Given the description of an element on the screen output the (x, y) to click on. 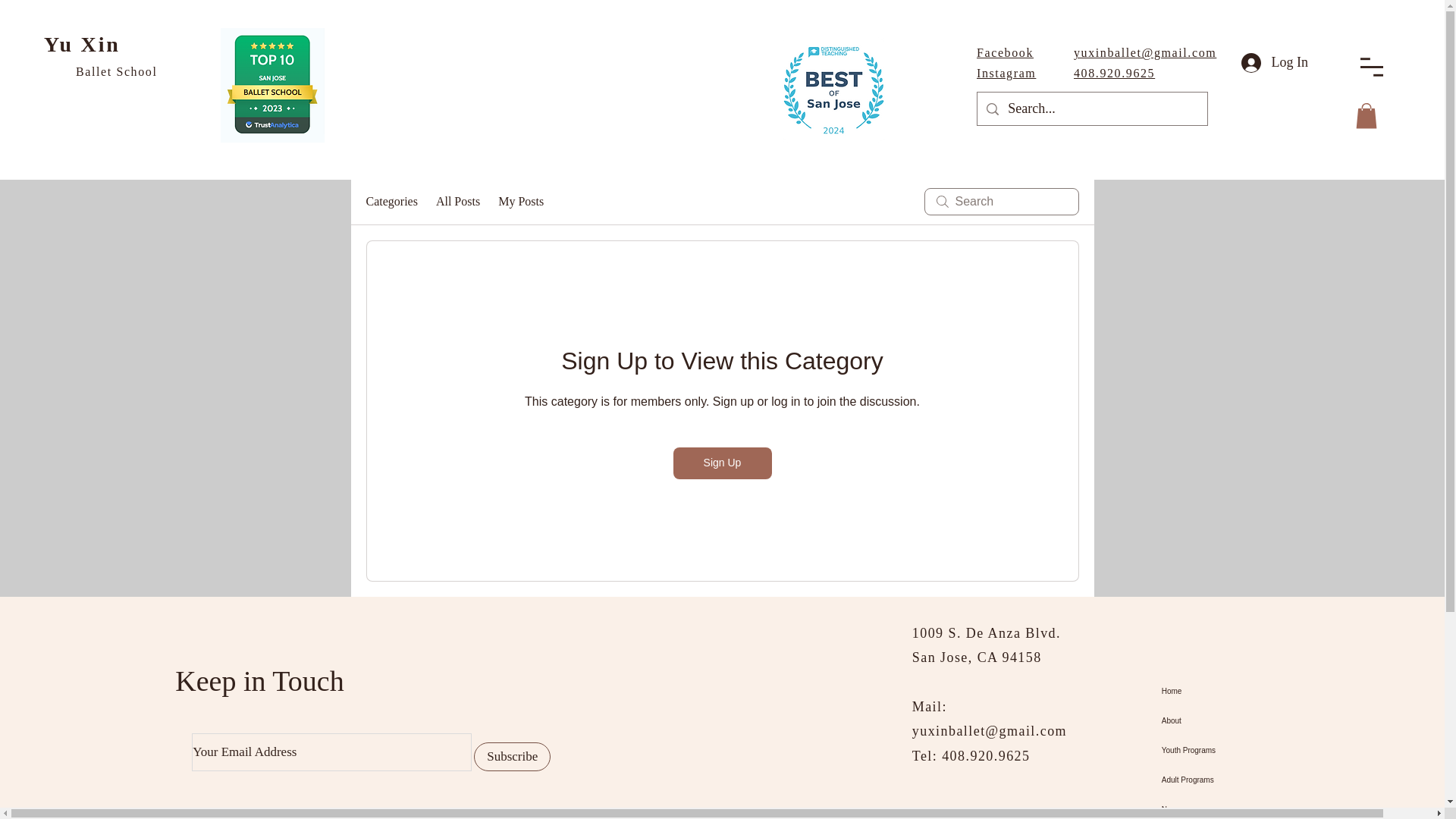
Home (1240, 690)
About (1240, 720)
Facebook (1004, 51)
Instagram (1005, 72)
Ballet School (116, 71)
Log In (1274, 62)
Sign Up (721, 463)
News (1240, 806)
Youth Programs (1240, 749)
Yu Xin (81, 44)
All Posts (457, 201)
My Posts (520, 201)
Categories (390, 201)
Adult Programs (1240, 779)
Subscribe (512, 756)
